Given the description of an element on the screen output the (x, y) to click on. 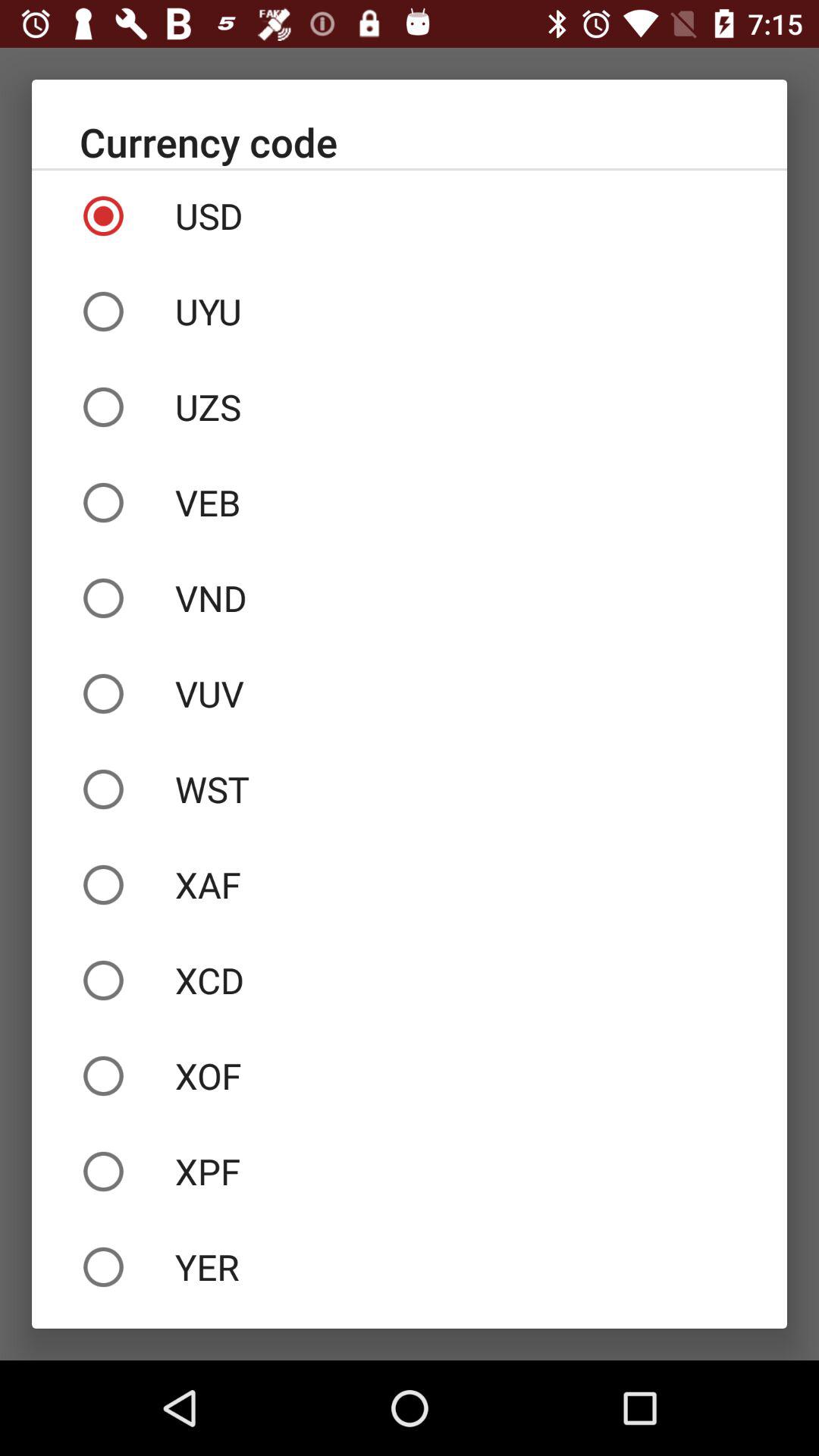
tap the item below currency code (409, 215)
